Given the description of an element on the screen output the (x, y) to click on. 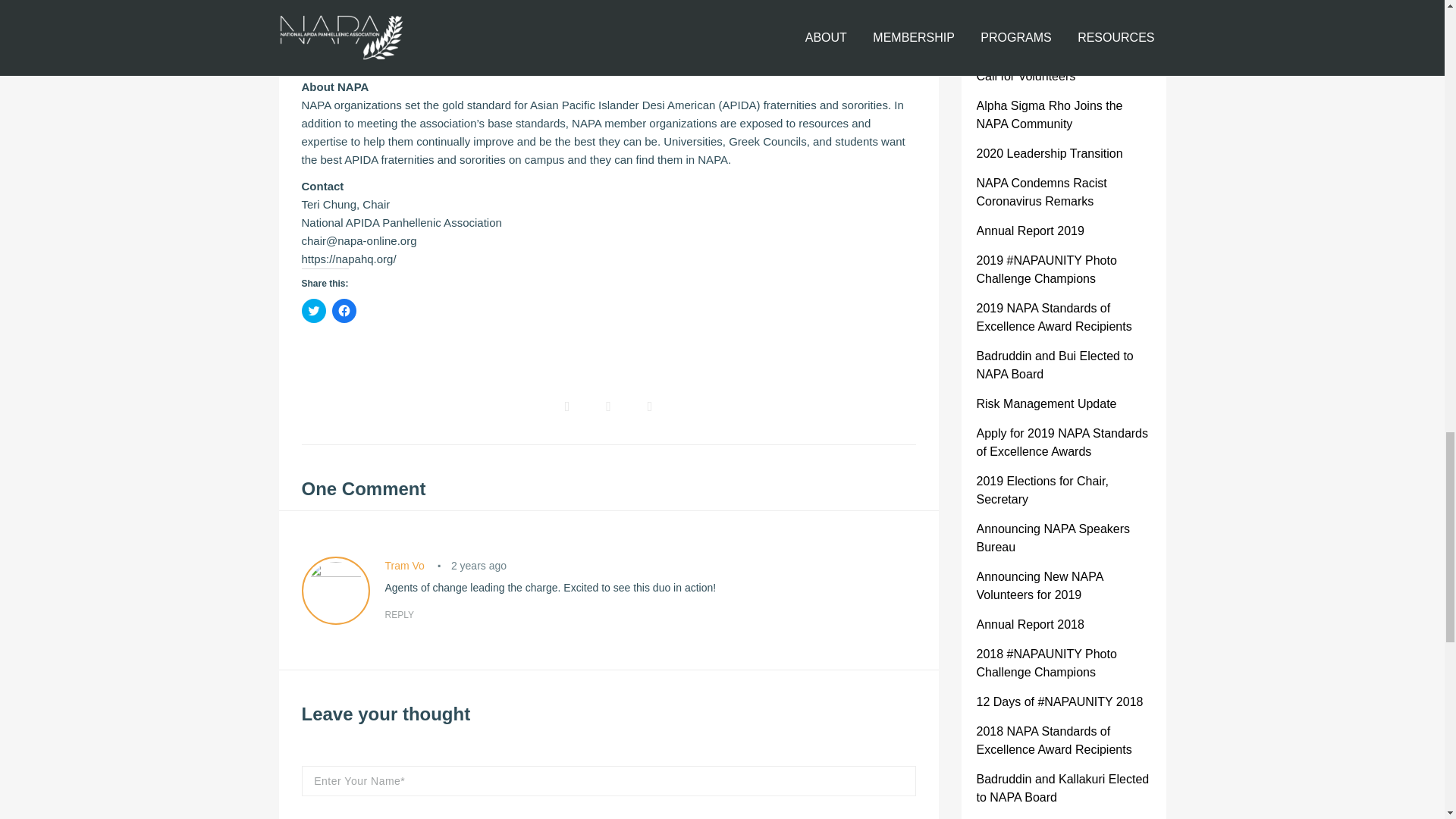
Click to share on Facebook (343, 310)
Share on Twitter (607, 406)
REPLY (399, 615)
Share on Facebook (566, 406)
Click to share on Twitter (313, 310)
Share on LinkedIn (649, 406)
